Given the description of an element on the screen output the (x, y) to click on. 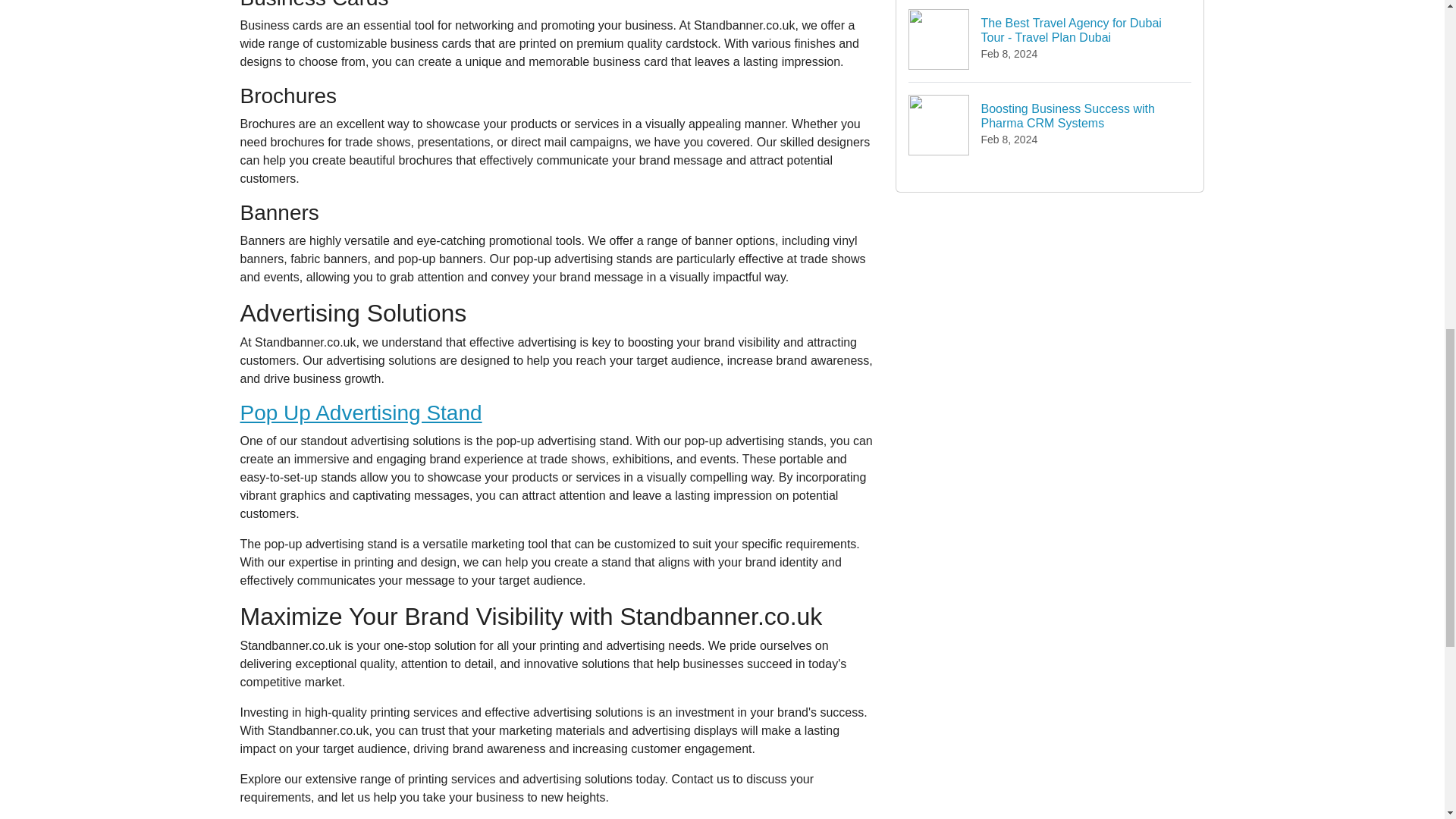
Pop Up Advertising Stand (360, 413)
